Given the description of an element on the screen output the (x, y) to click on. 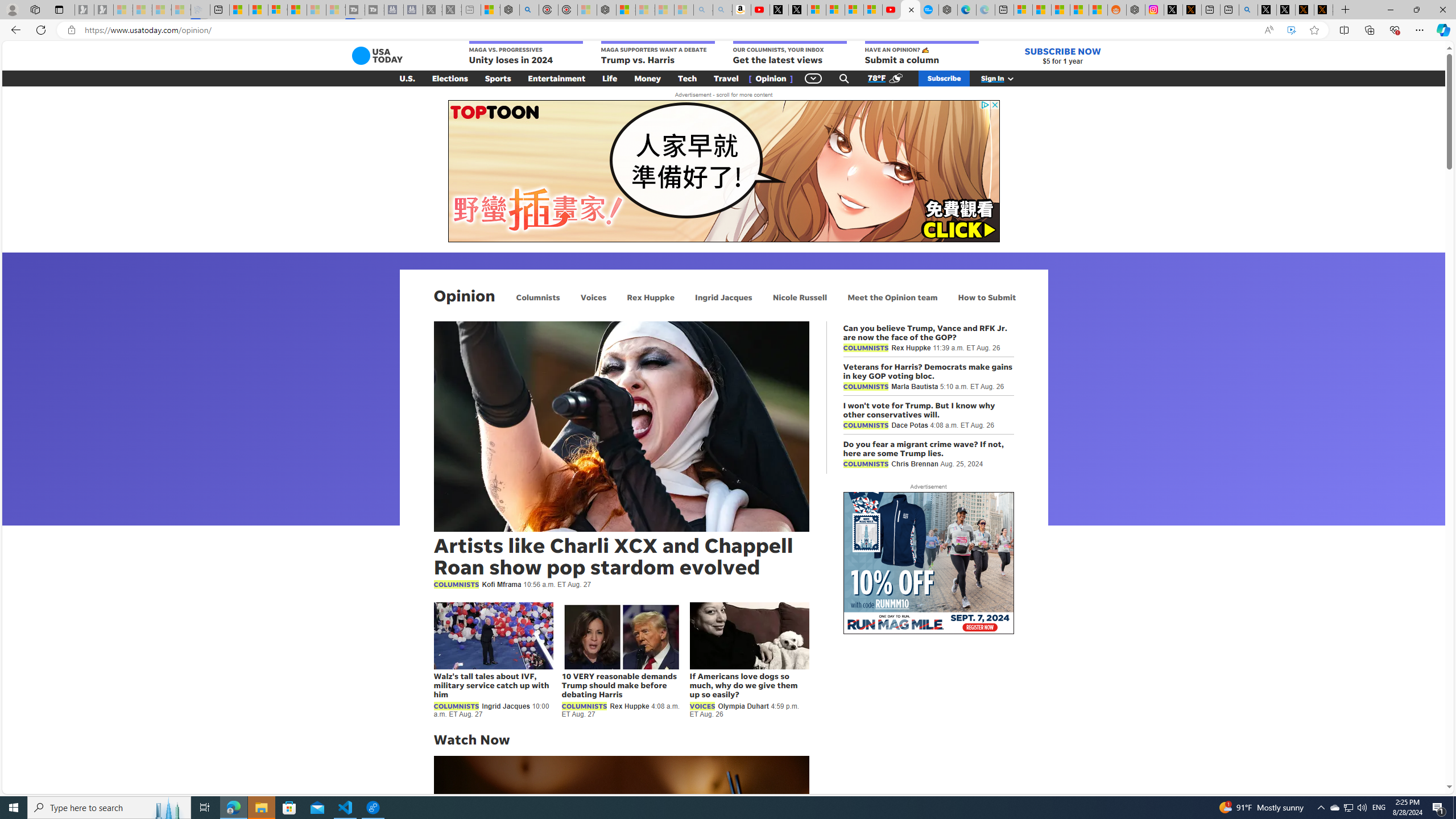
Opinion: Op-Ed and Commentary - USA TODAY (910, 9)
Class: gnt_n_dd_bt_svg (813, 78)
App bar (728, 29)
Columnists (537, 296)
X Privacy Policy (1323, 9)
MAGA SUPPORTERS WANT A DEBATE Trump vs. Harris (656, 53)
To get missing image descriptions, open the context menu. (723, 170)
Profile / X (1267, 9)
How to Submit (986, 296)
